Given the description of an element on the screen output the (x, y) to click on. 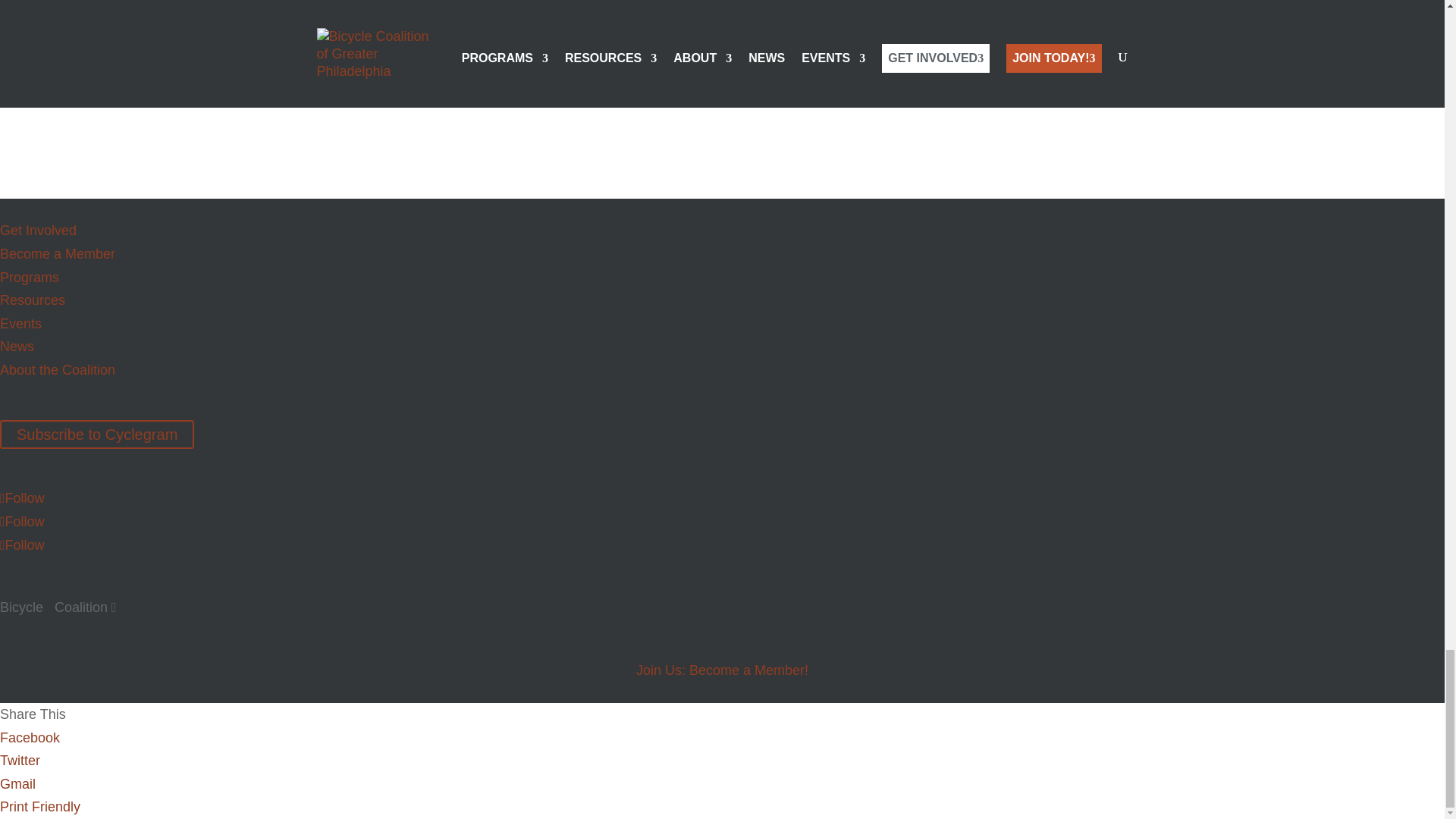
Follow on X (22, 498)
Follow on Instagram (22, 544)
Follow on Facebook (22, 521)
